Given the description of an element on the screen output the (x, y) to click on. 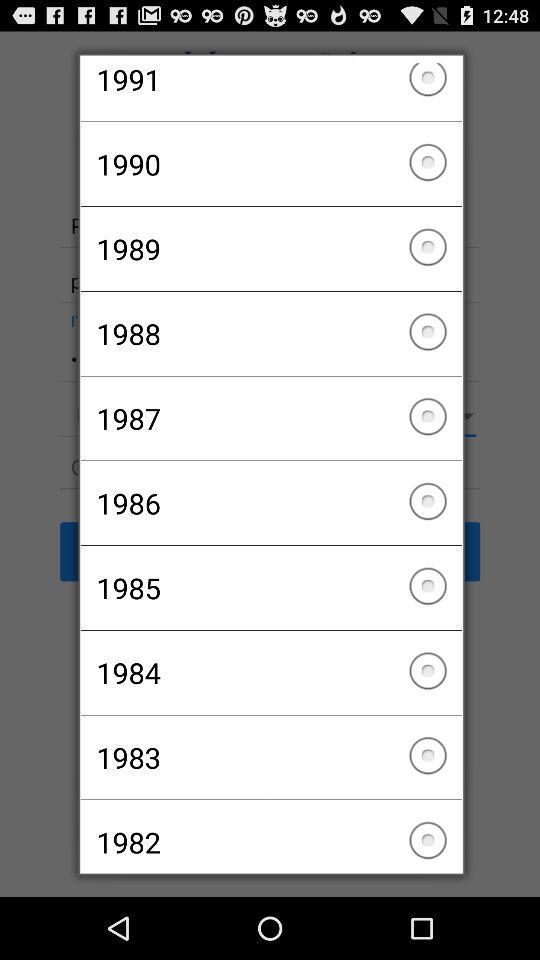
click the 1987 (270, 418)
